Given the description of an element on the screen output the (x, y) to click on. 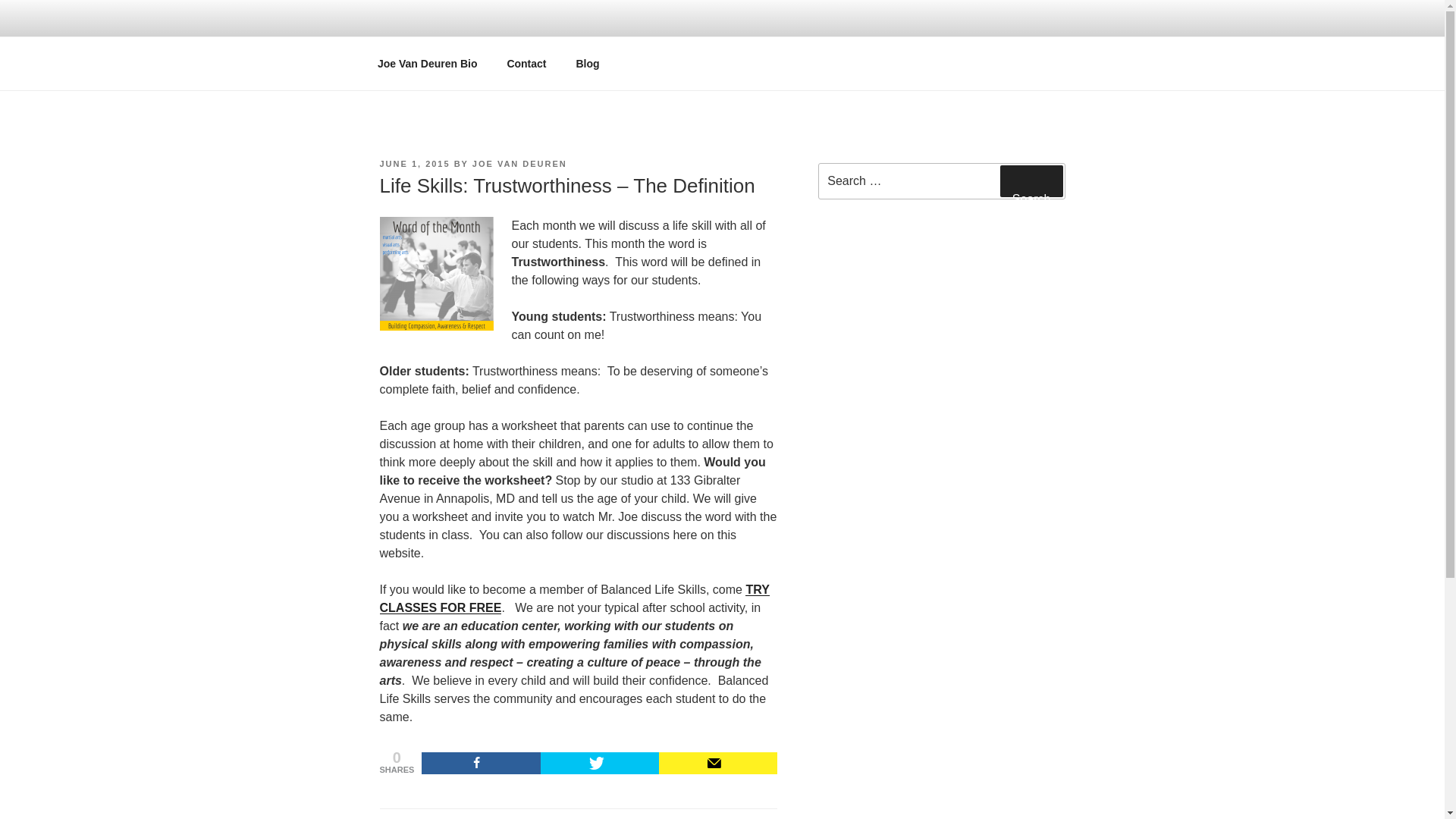
JOE VAN DEUREN (519, 163)
Subscribe (718, 762)
Share (481, 762)
Joe Van Deuren Bio (426, 63)
JUNE 1, 2015 (413, 163)
TRY CLASSES FOR FREE (573, 598)
Blog (587, 63)
Contact (526, 63)
Search (1031, 181)
Tweet (599, 762)
